Given the description of an element on the screen output the (x, y) to click on. 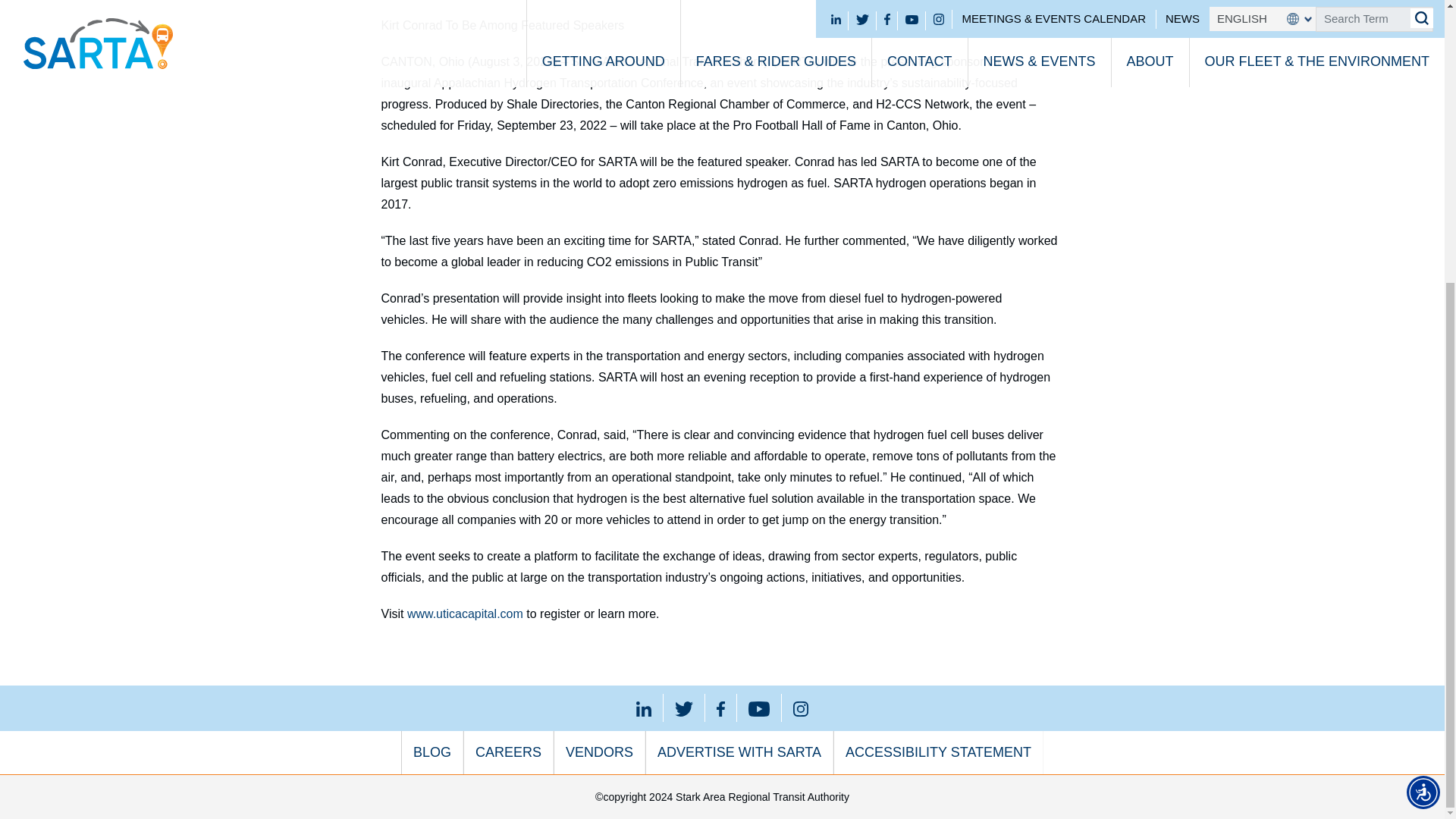
Accessibility Menu (1422, 368)
